Given the description of an element on the screen output the (x, y) to click on. 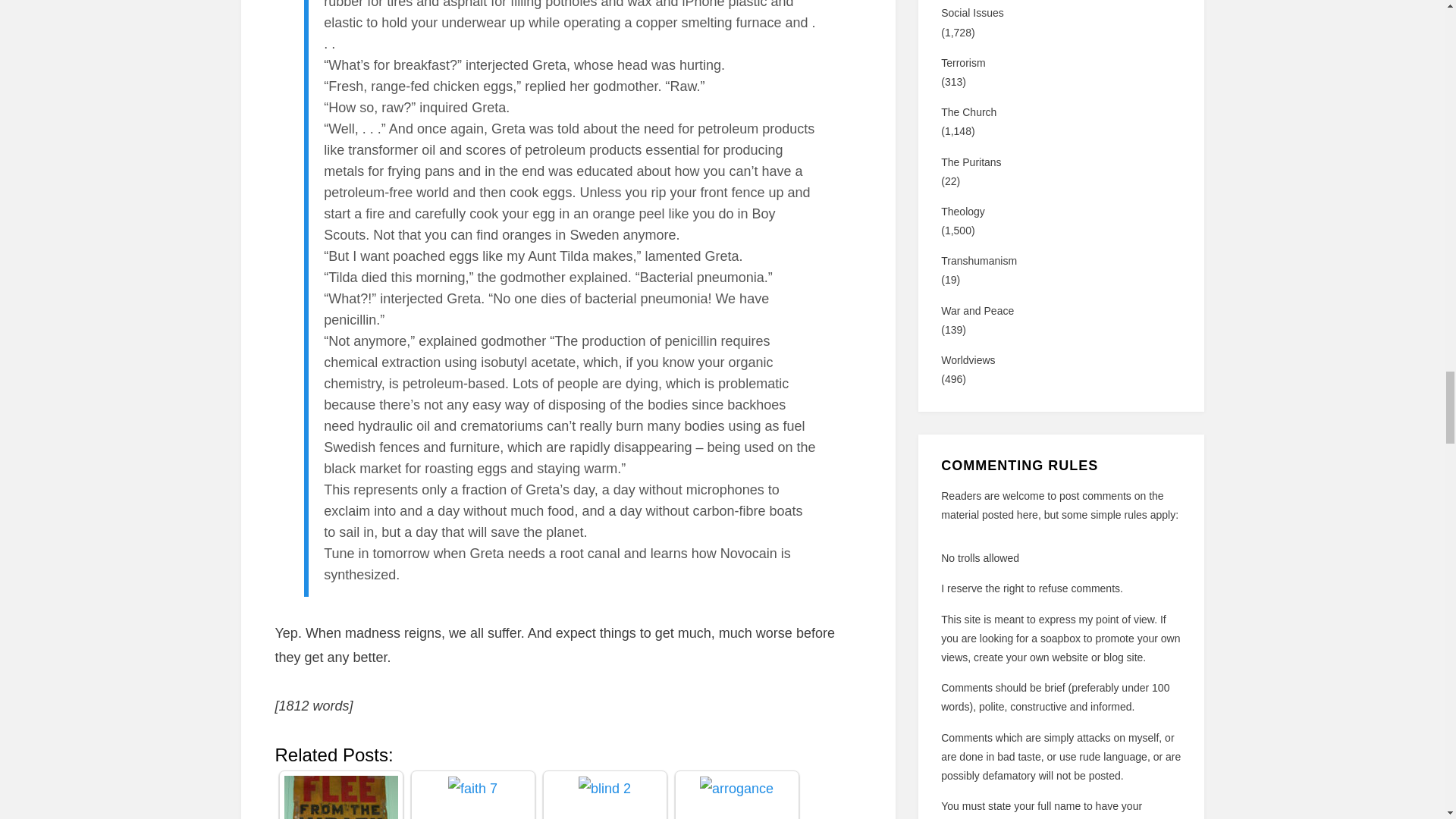
Paul, the Wrath of God, and Future Judgment (340, 797)
Paul, the Wrath of God, and Future Judgment (340, 797)
Faith in Dark Times (471, 797)
Faith in Dark Times (472, 788)
On Spiritual Blindness (604, 788)
On Spiritual Blindness (604, 797)
